Given the description of an element on the screen output the (x, y) to click on. 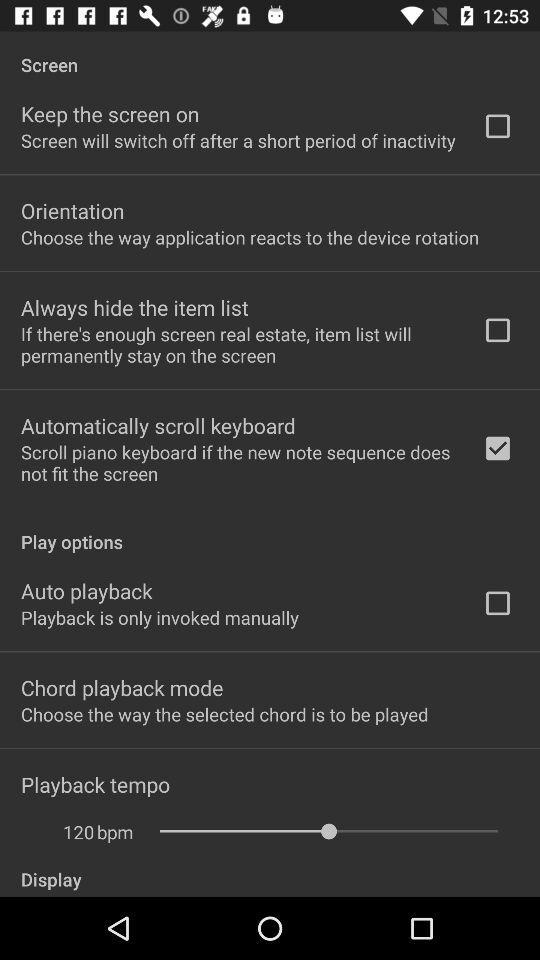
tap the item above the 120 icon (95, 784)
